Given the description of an element on the screen output the (x, y) to click on. 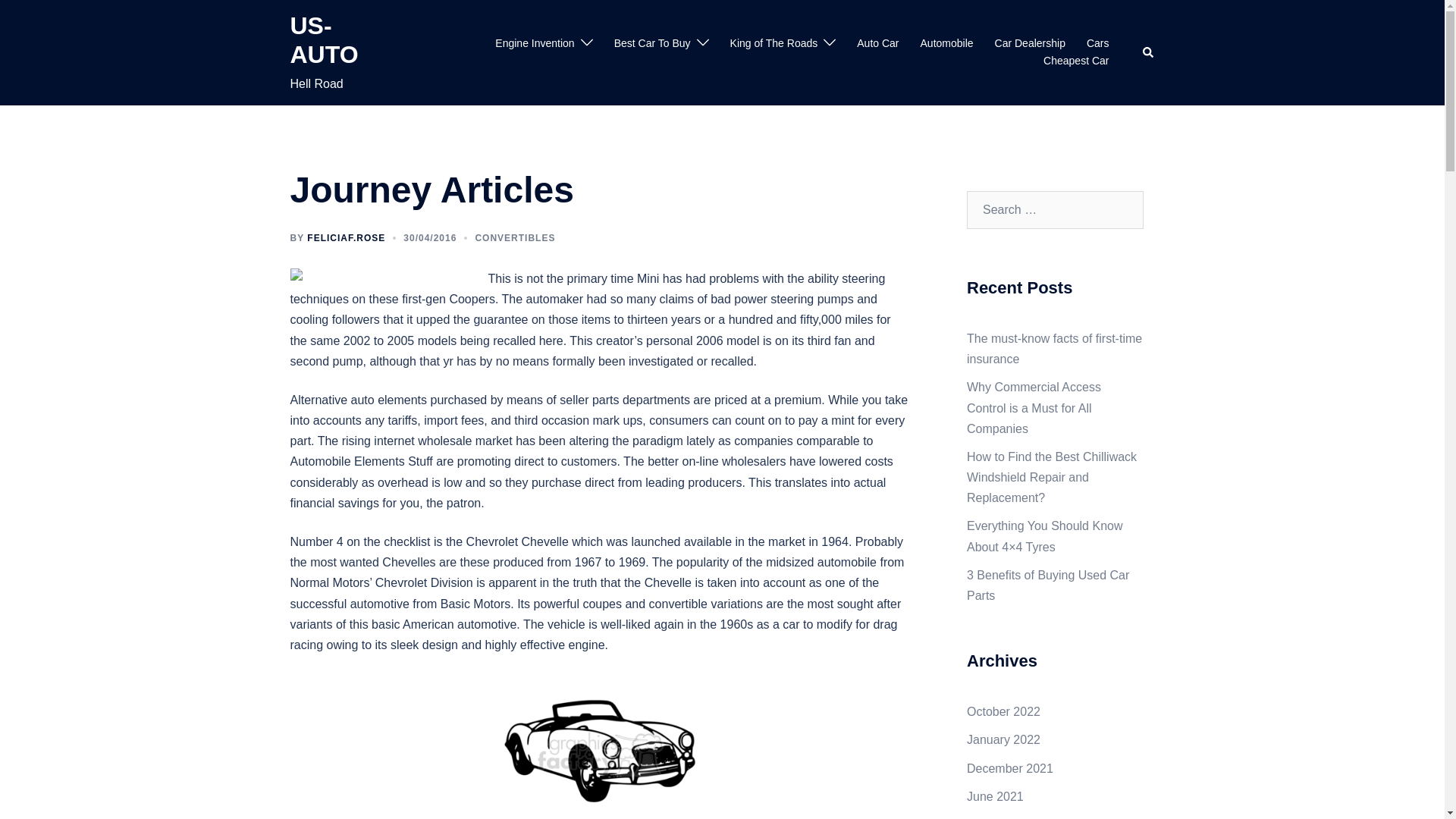
Cars (1097, 44)
King of The Roads (774, 44)
Cheapest Car (1075, 61)
US-AUTO (323, 39)
Best Car To Buy (652, 44)
Car Dealership (1029, 44)
Auto Car (877, 44)
Search (1147, 51)
Automobile (947, 44)
Engine Invention (534, 44)
